Given the description of an element on the screen output the (x, y) to click on. 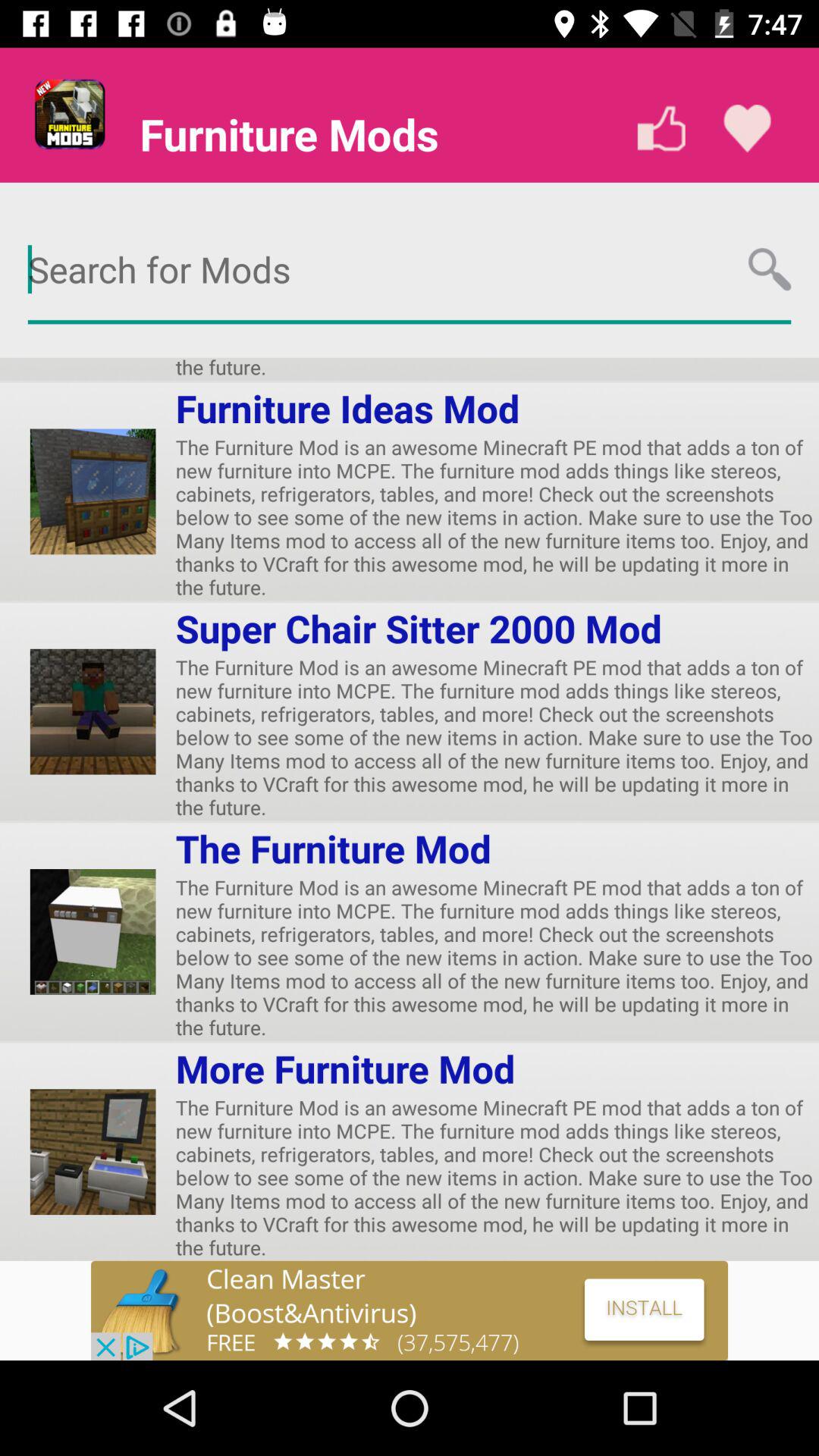
search box (409, 269)
